Given the description of an element on the screen output the (x, y) to click on. 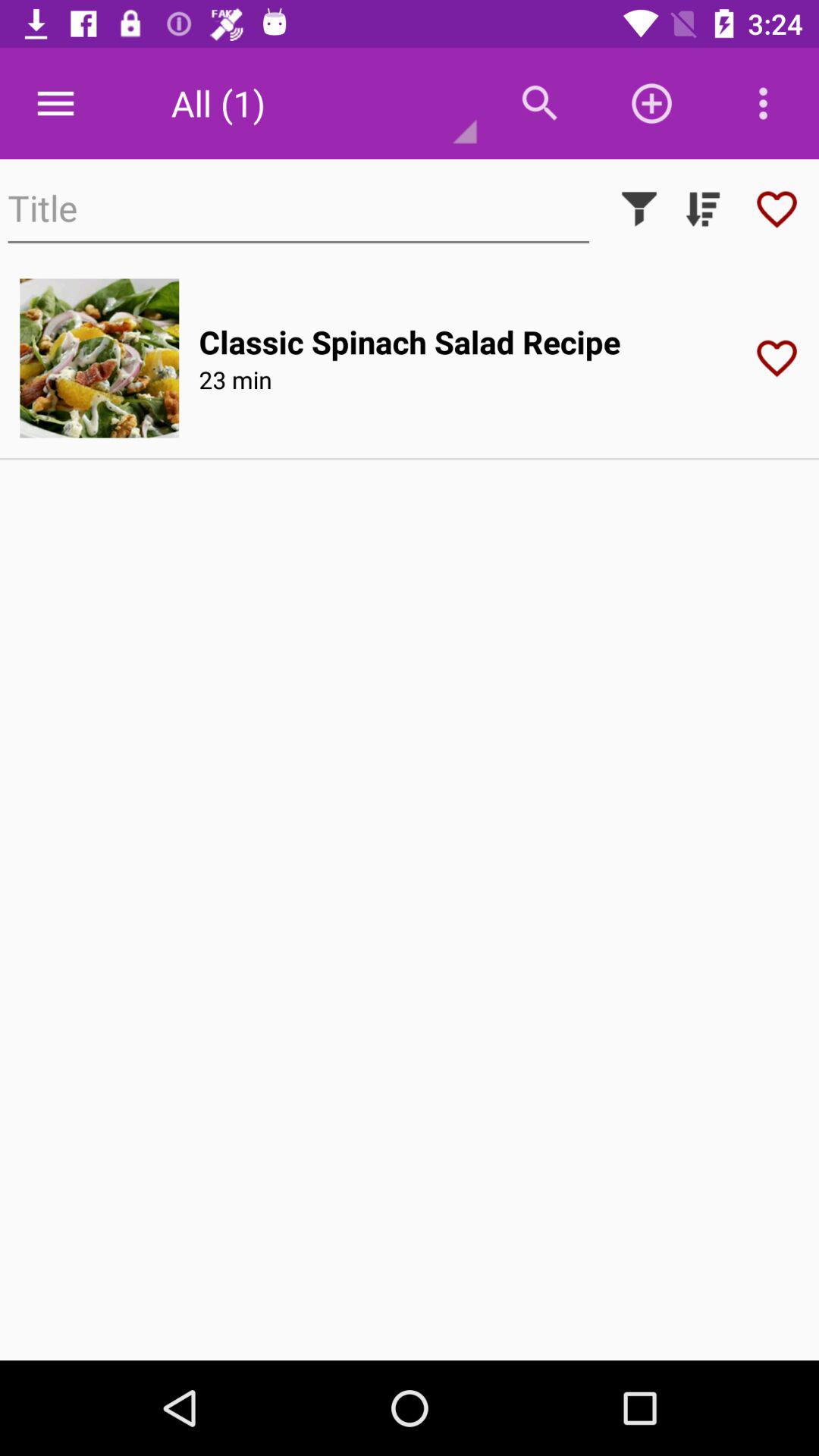
open image (99, 357)
